Given the description of an element on the screen output the (x, y) to click on. 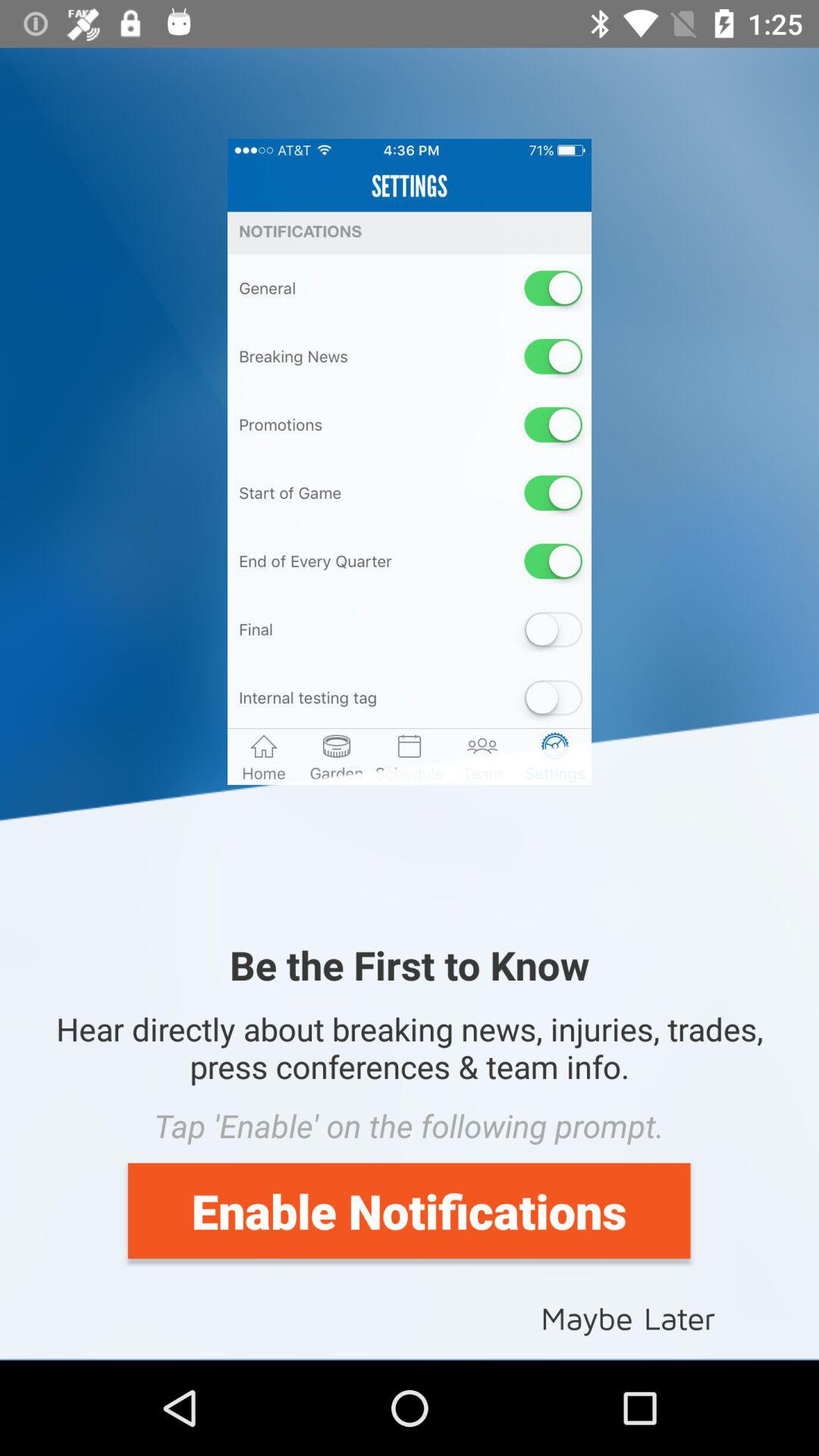
select maybe later at the bottom right corner (627, 1317)
